Given the description of an element on the screen output the (x, y) to click on. 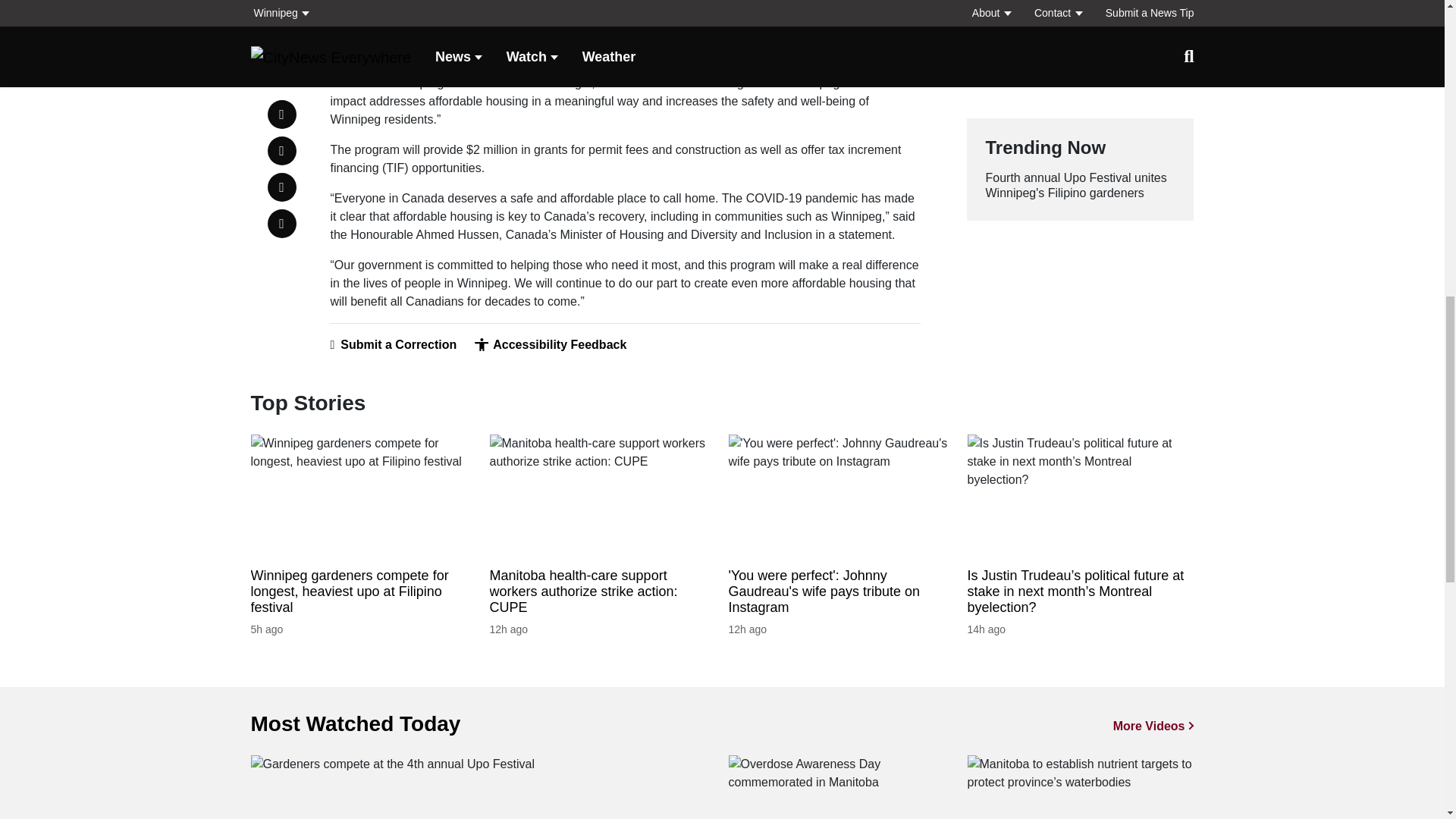
Accessibility Feedback (550, 344)
Submit a Correction (393, 344)
